Given the description of an element on the screen output the (x, y) to click on. 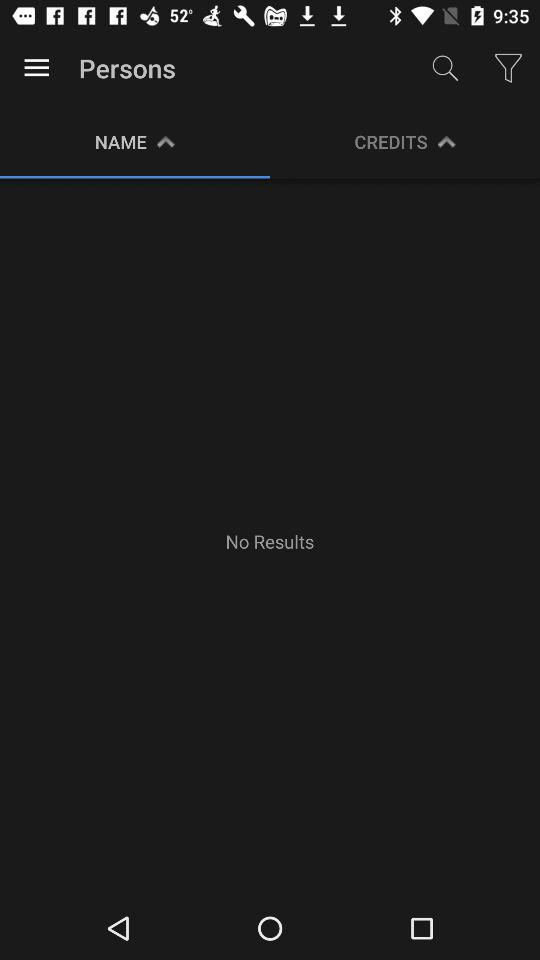
turn on app next to the persons icon (36, 68)
